Given the description of an element on the screen output the (x, y) to click on. 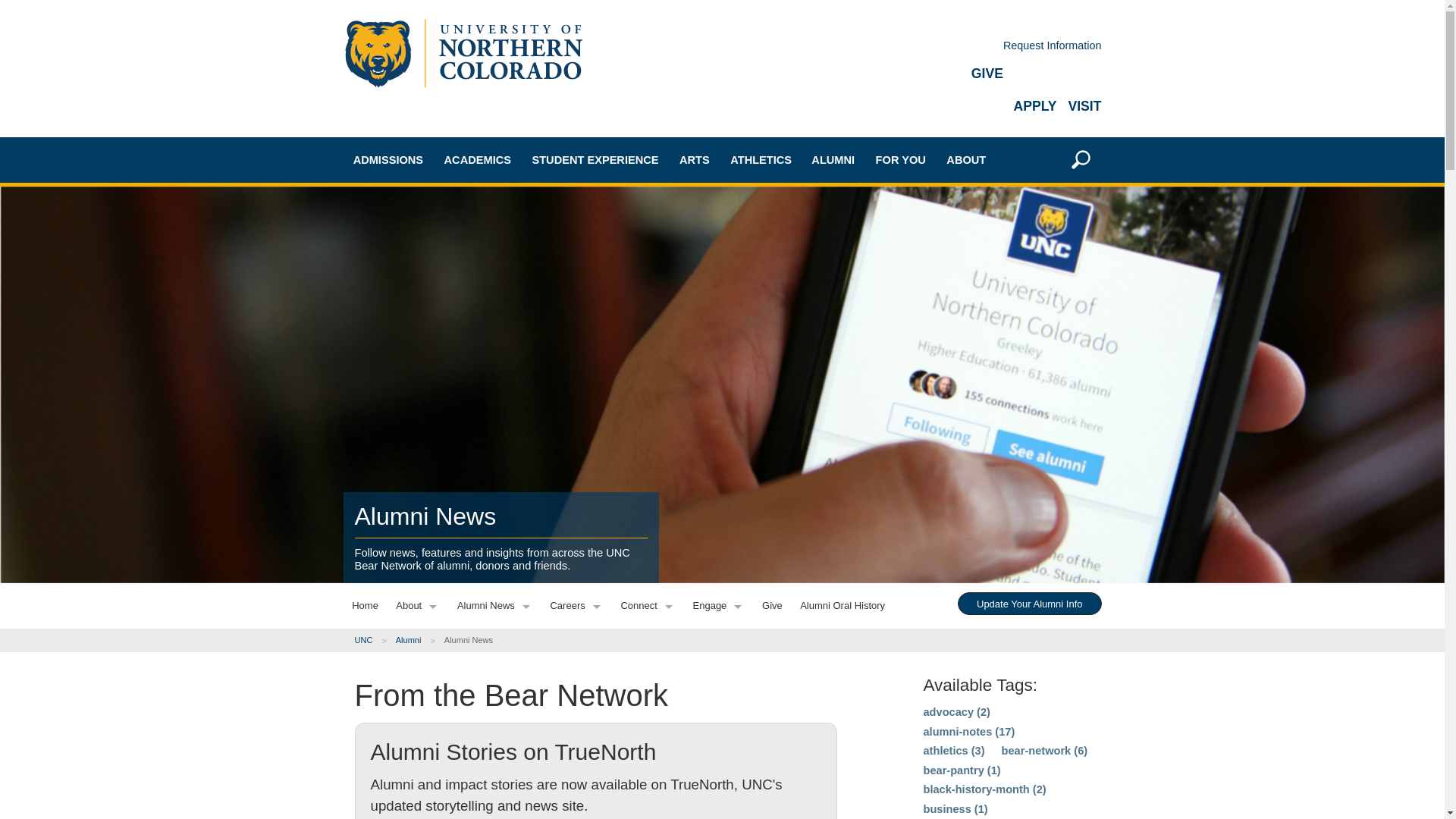
Financial Aid (418, 408)
Search (1067, 370)
Graduate Programs (509, 260)
Visit Campus (418, 456)
ACADEMICS (477, 159)
ADMISSIONS (387, 159)
Research (509, 419)
Graduate (418, 281)
Departments and Colleges (509, 286)
Schedule of Classes (509, 366)
First-Year (418, 228)
International (418, 307)
GIVE (987, 73)
Education Abroad (509, 313)
Extended Campus (418, 334)
